Given the description of an element on the screen output the (x, y) to click on. 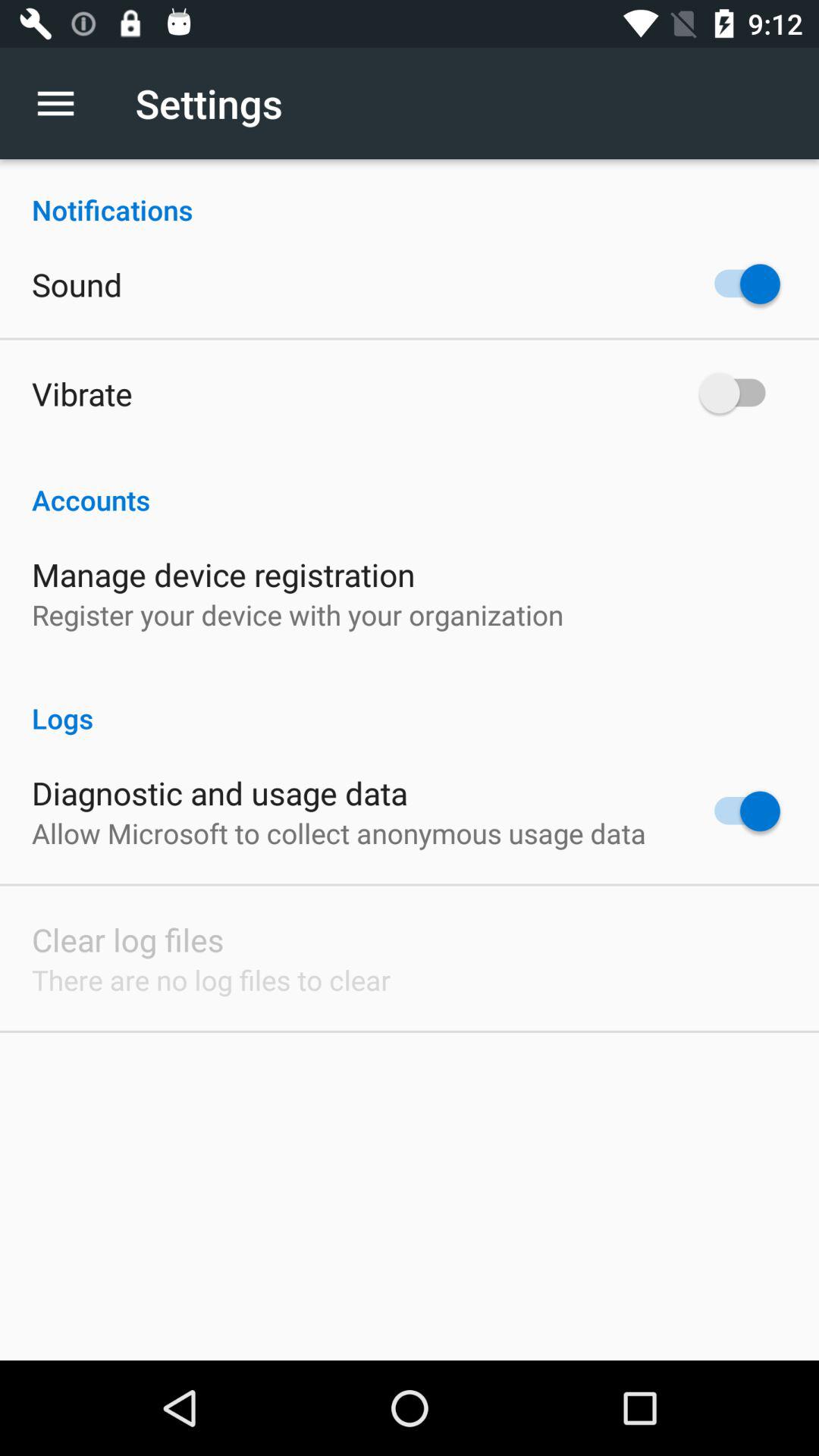
flip to logs (409, 702)
